Given the description of an element on the screen output the (x, y) to click on. 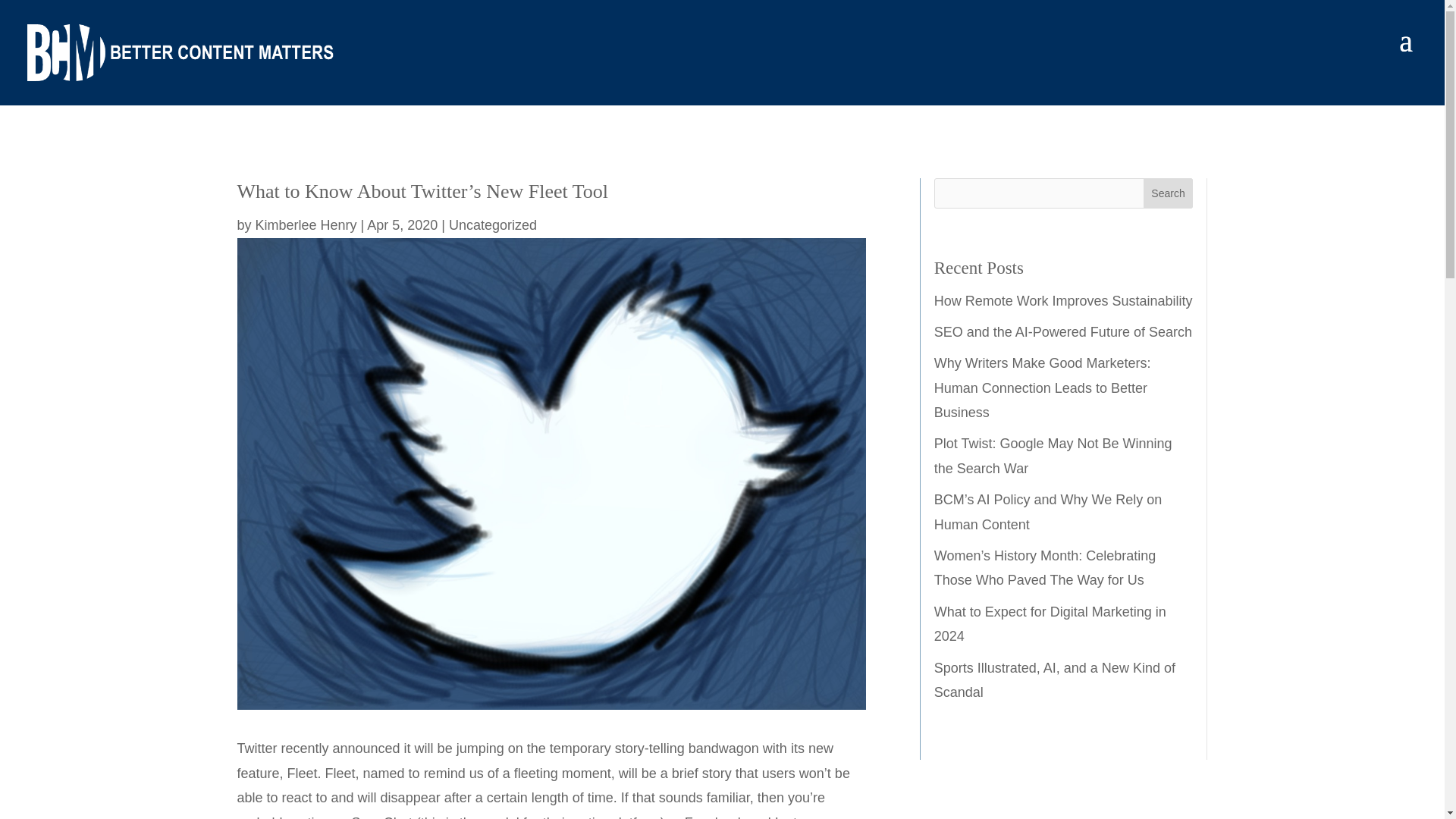
SEO and the AI-Powered Future of Search (1063, 331)
Plot Twist: Google May Not Be Winning the Search War (1053, 455)
What to Expect for Digital Marketing in 2024 (1050, 623)
How Remote Work Improves Sustainability (1063, 300)
Posts by Kimberlee Henry (306, 224)
Sports Illustrated, AI, and a New Kind of Scandal (1054, 680)
Uncategorized (492, 224)
Search (1167, 193)
Kimberlee Henry (306, 224)
better content matters logo (180, 52)
